Given the description of an element on the screen output the (x, y) to click on. 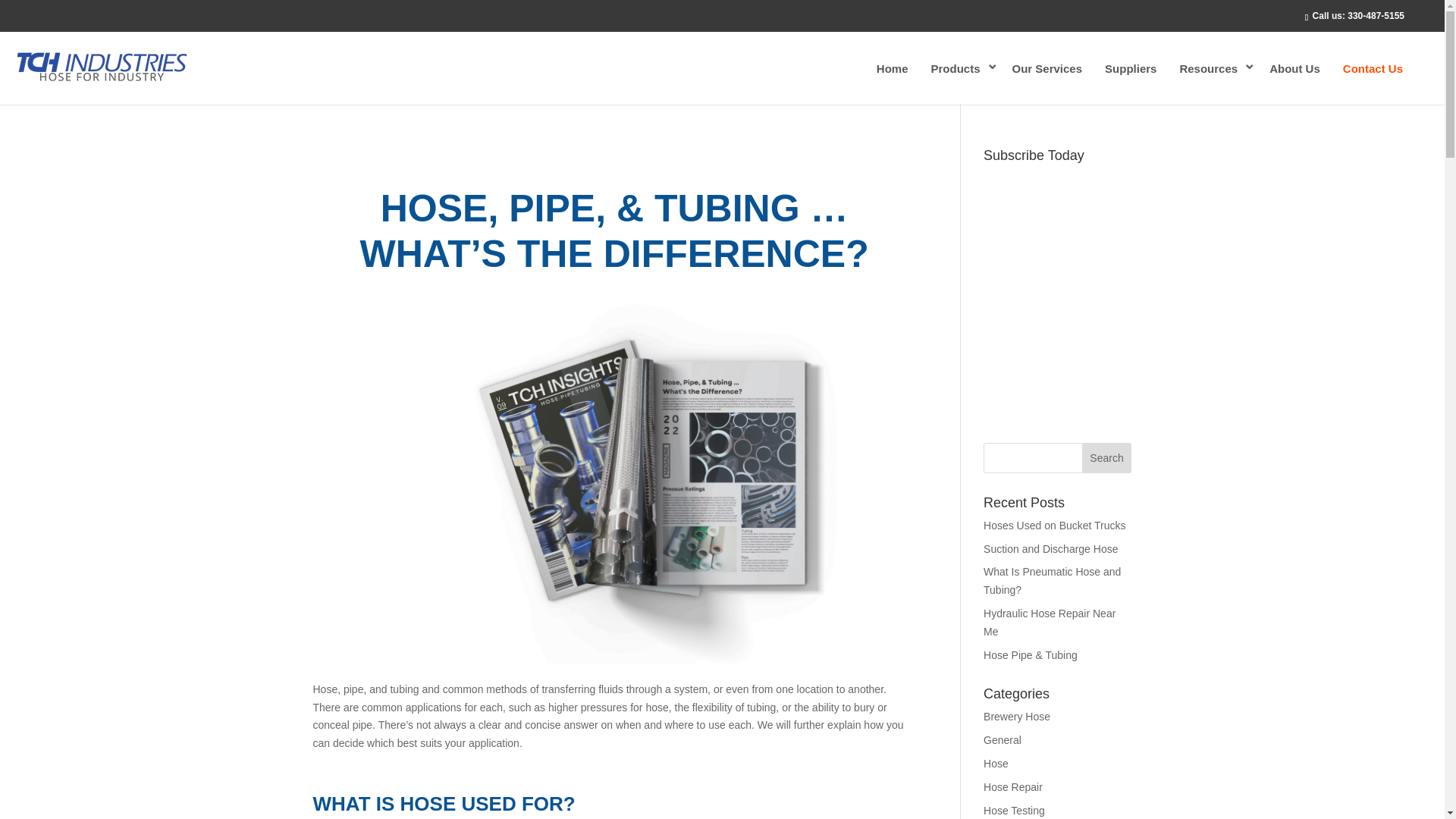
Form 0 (1057, 309)
Products (959, 68)
About Us (1294, 68)
Call us: 330-487-5155 (1356, 15)
Contact Us (1372, 68)
Search (1106, 458)
Home (892, 68)
Resources (1212, 68)
Our Services (1047, 68)
Suppliers (1130, 68)
